Given the description of an element on the screen output the (x, y) to click on. 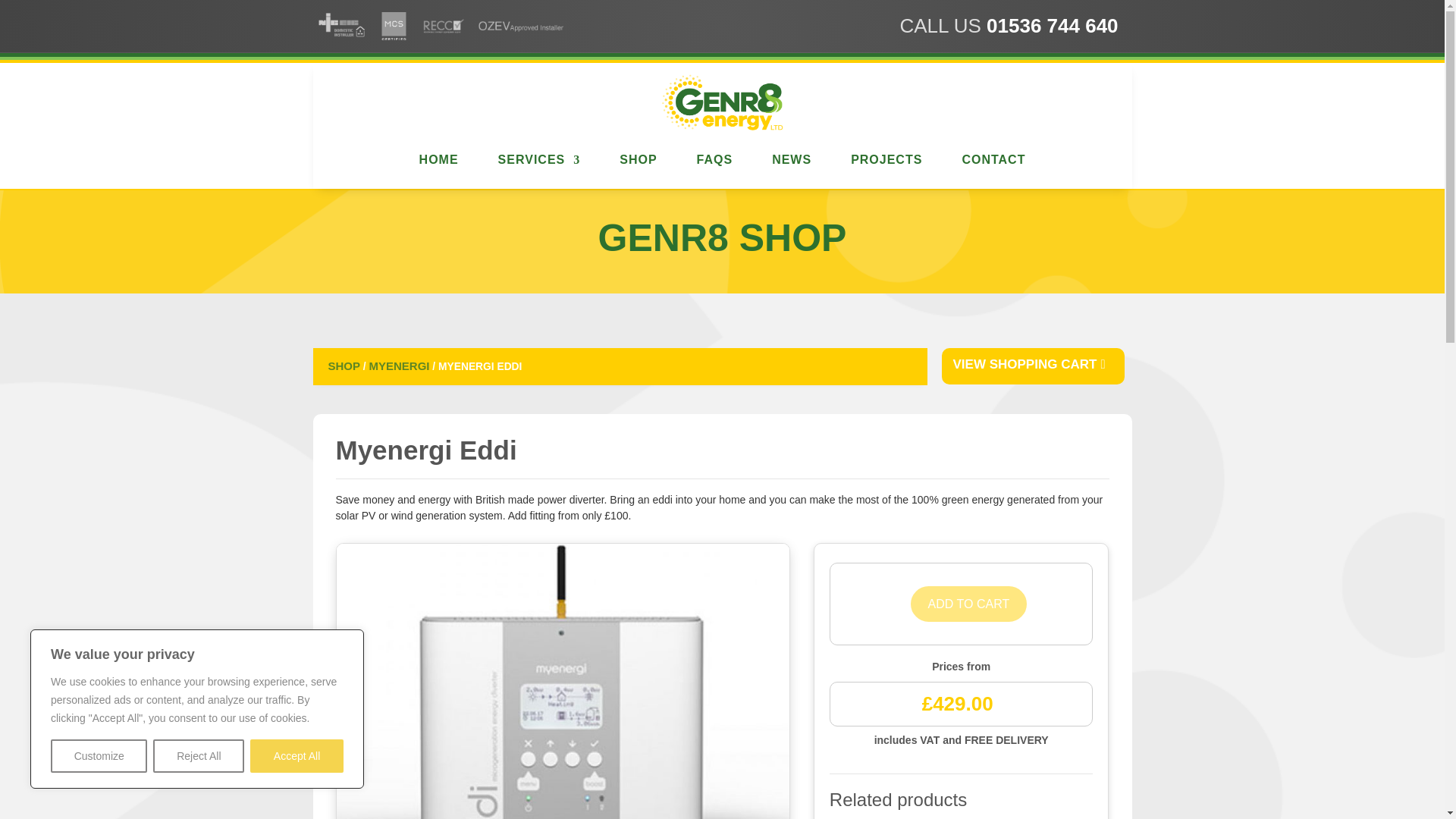
PROJECTS (880, 160)
SERVICES (533, 160)
SHOP (343, 365)
VIEW SHOPPING CART (1033, 366)
MYENERGI (399, 365)
Accept All (296, 756)
CONTACT (987, 160)
Customize (98, 756)
Reject All (198, 756)
